Given the description of an element on the screen output the (x, y) to click on. 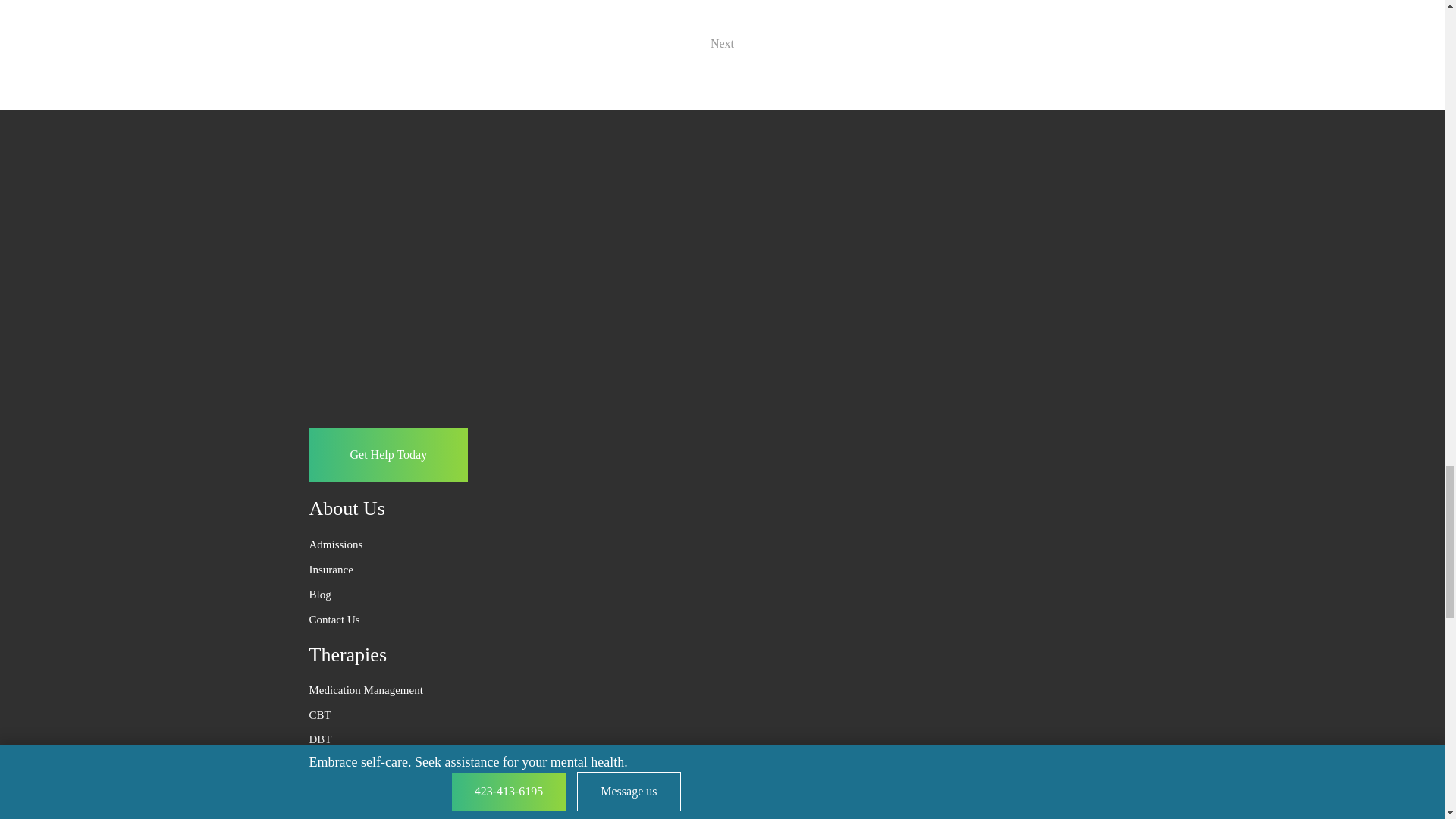
Get Help Today (388, 454)
